Given the description of an element on the screen output the (x, y) to click on. 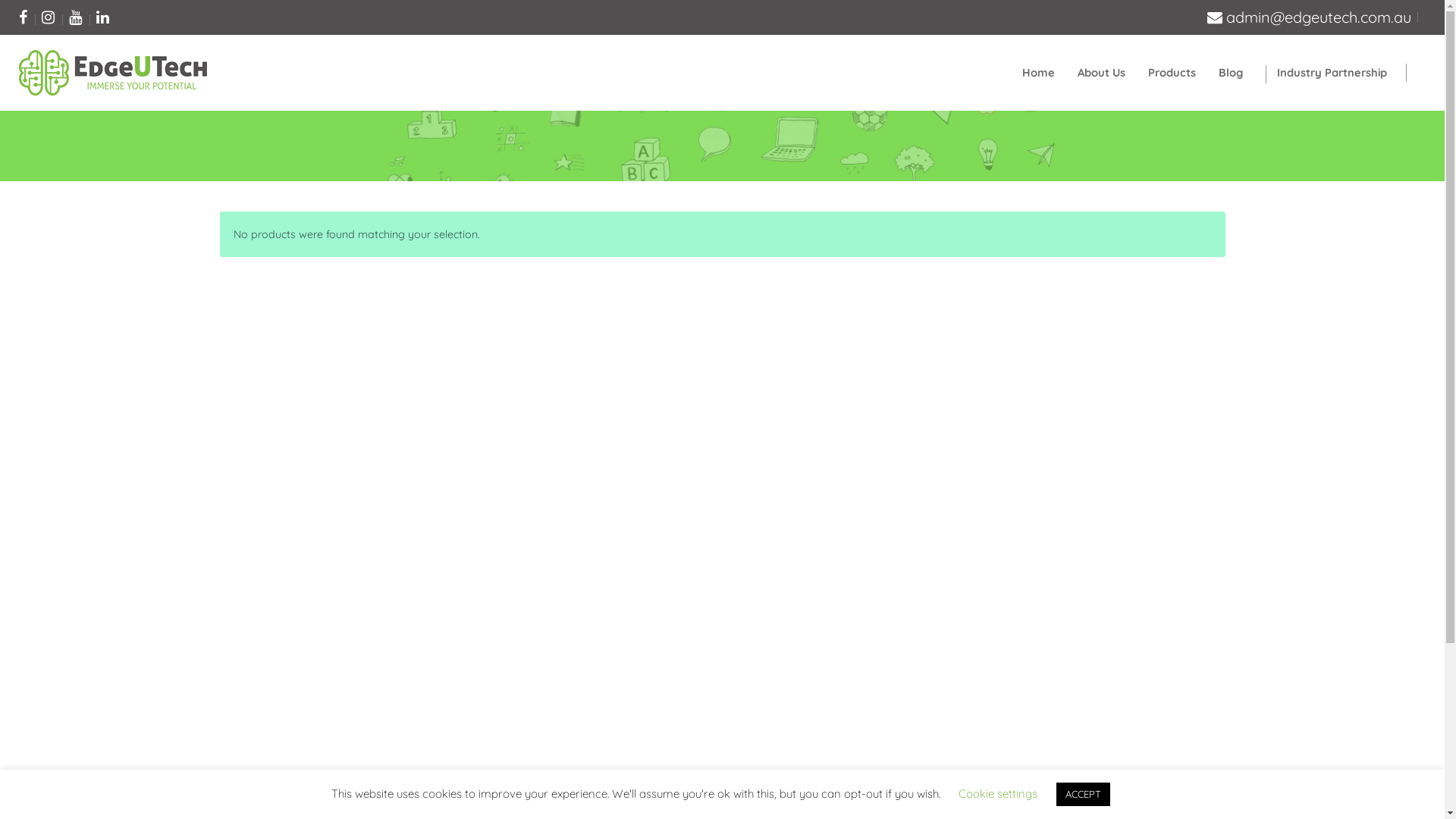
admin@edgeutech.com.au Element type: text (1309, 16)
Blog Element type: text (1230, 72)
About Us Element type: text (1101, 72)
Products Element type: text (1171, 72)
Skip to content Element type: text (0, 0)
Cookie settings Element type: text (997, 793)
Home Element type: text (1038, 72)
Industry Partnership Element type: text (1331, 72)
ACCEPT Element type: text (1082, 794)
